Given the description of an element on the screen output the (x, y) to click on. 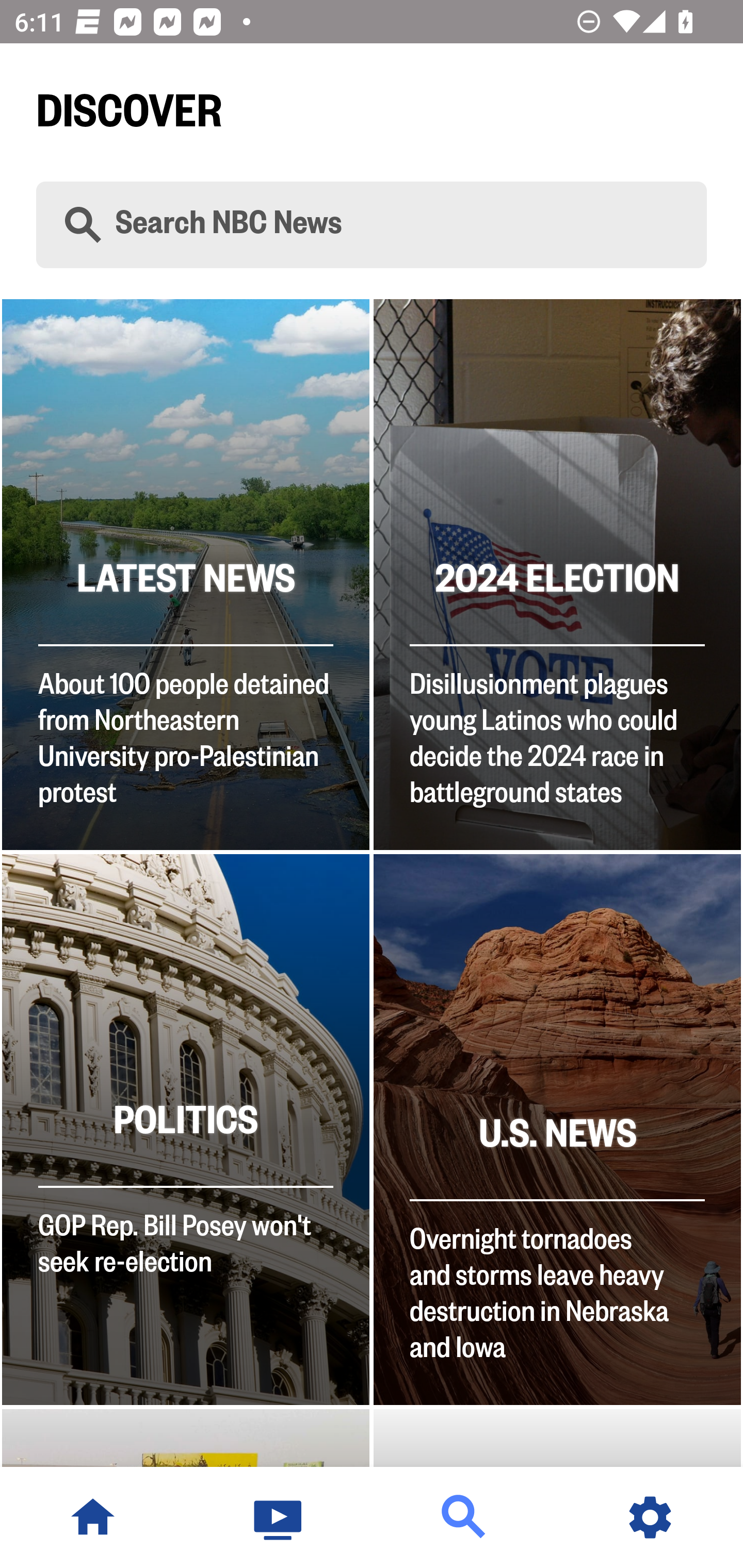
NBC News Home (92, 1517)
Watch (278, 1517)
Settings (650, 1517)
